Given the description of an element on the screen output the (x, y) to click on. 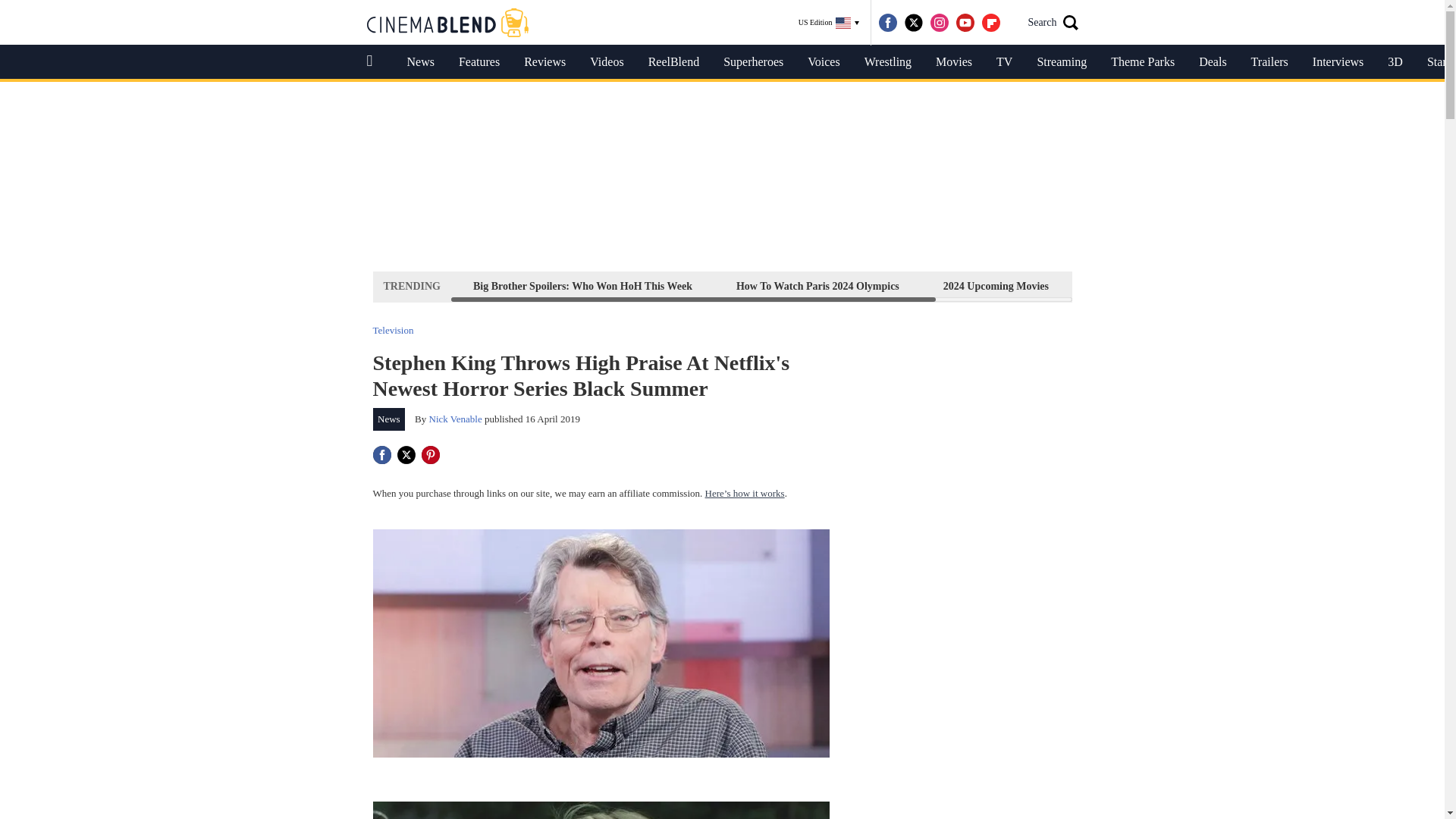
ReelBlend (673, 61)
Features (479, 61)
How To Watch Paris 2024 Olympics (817, 286)
2024 Upcoming Movies (995, 286)
Theme Parks (1142, 61)
Videos (606, 61)
Big Brother Spoilers: Who Won HoH This Week (582, 286)
3D (1395, 61)
Superheroes (752, 61)
Streaming (1062, 61)
100 Best Sitcoms Of All Time (1158, 286)
Reviews (545, 61)
Interviews (1337, 61)
News (389, 418)
Deals (1212, 61)
